Given the description of an element on the screen output the (x, y) to click on. 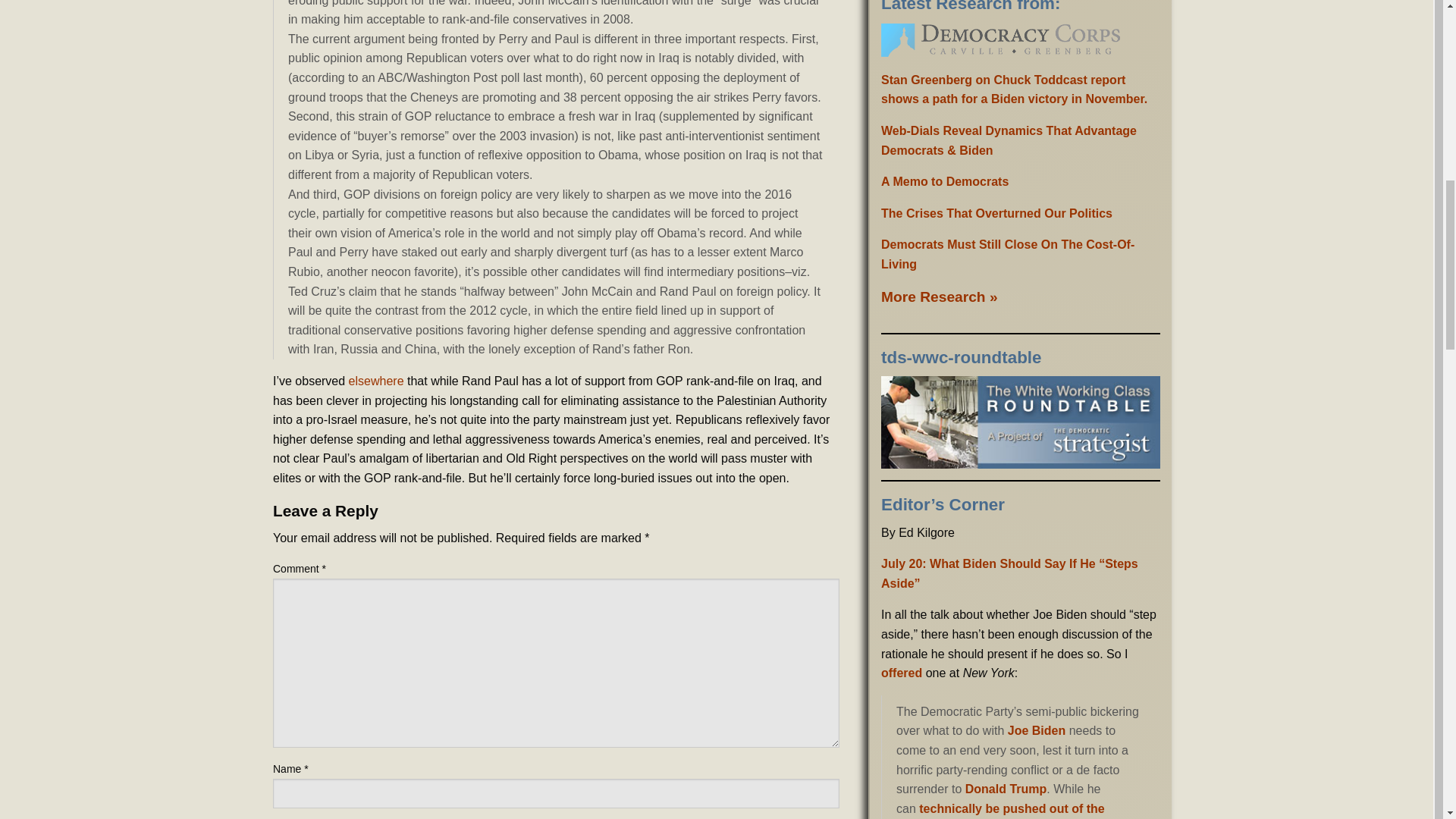
Joe Biden (1036, 730)
The Crises That Overturned Our Politics (996, 213)
Democrats Must Still Close On The Cost-Of-Living (1007, 254)
elsewhere (376, 380)
A Memo to Democrats (944, 181)
Donald Trump (1005, 788)
offered (900, 672)
